Given the description of an element on the screen output the (x, y) to click on. 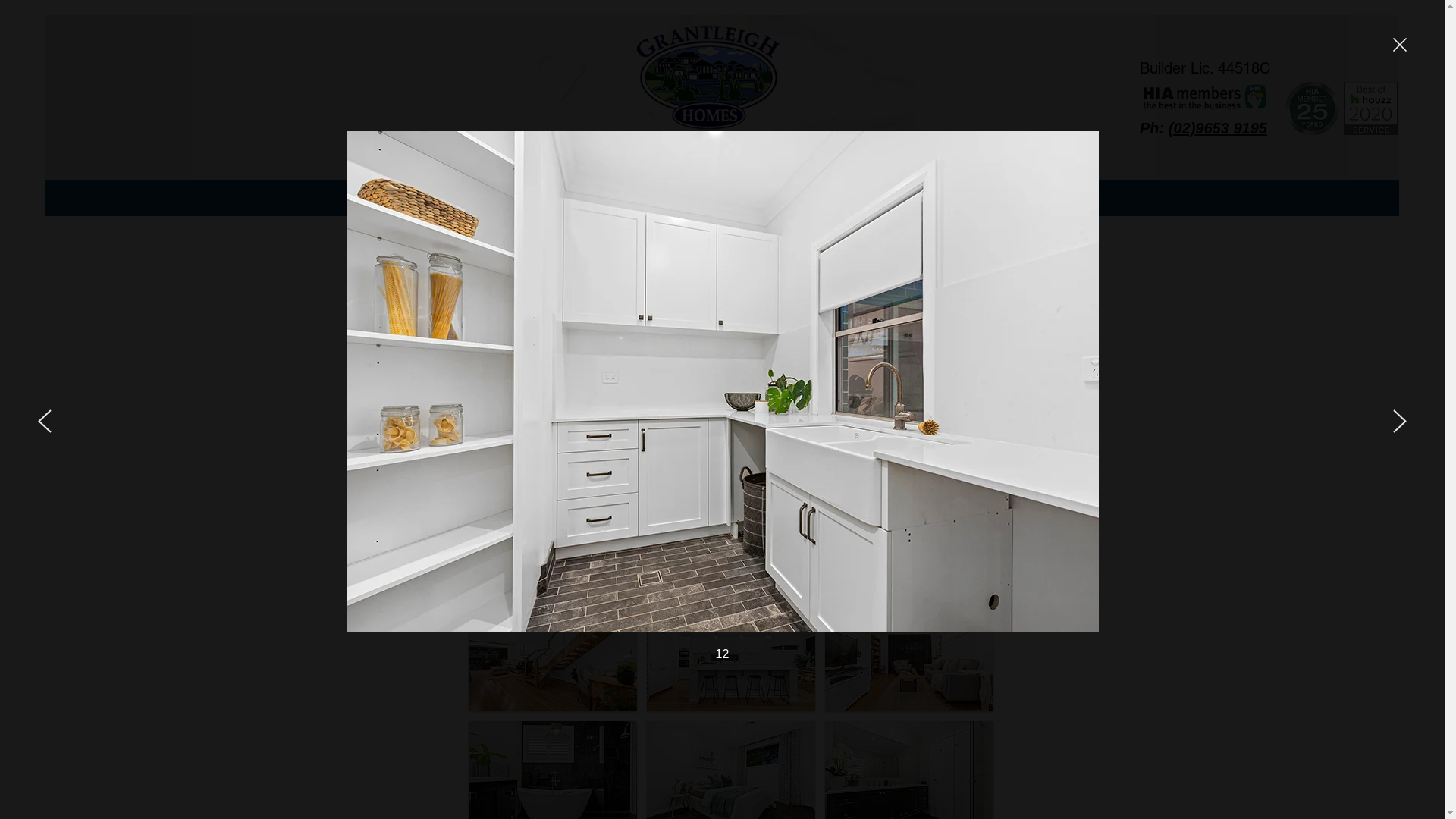
Gallery Element type: text (749, 199)
Projects Element type: text (688, 199)
Testimonials Element type: text (821, 199)
Our Services Element type: text (611, 199)
Home Element type: text (470, 199)
Contact Element type: text (894, 199)
(02)9653 9195 Element type: text (1217, 127)
About Us Element type: text (532, 199)
